Given the description of an element on the screen output the (x, y) to click on. 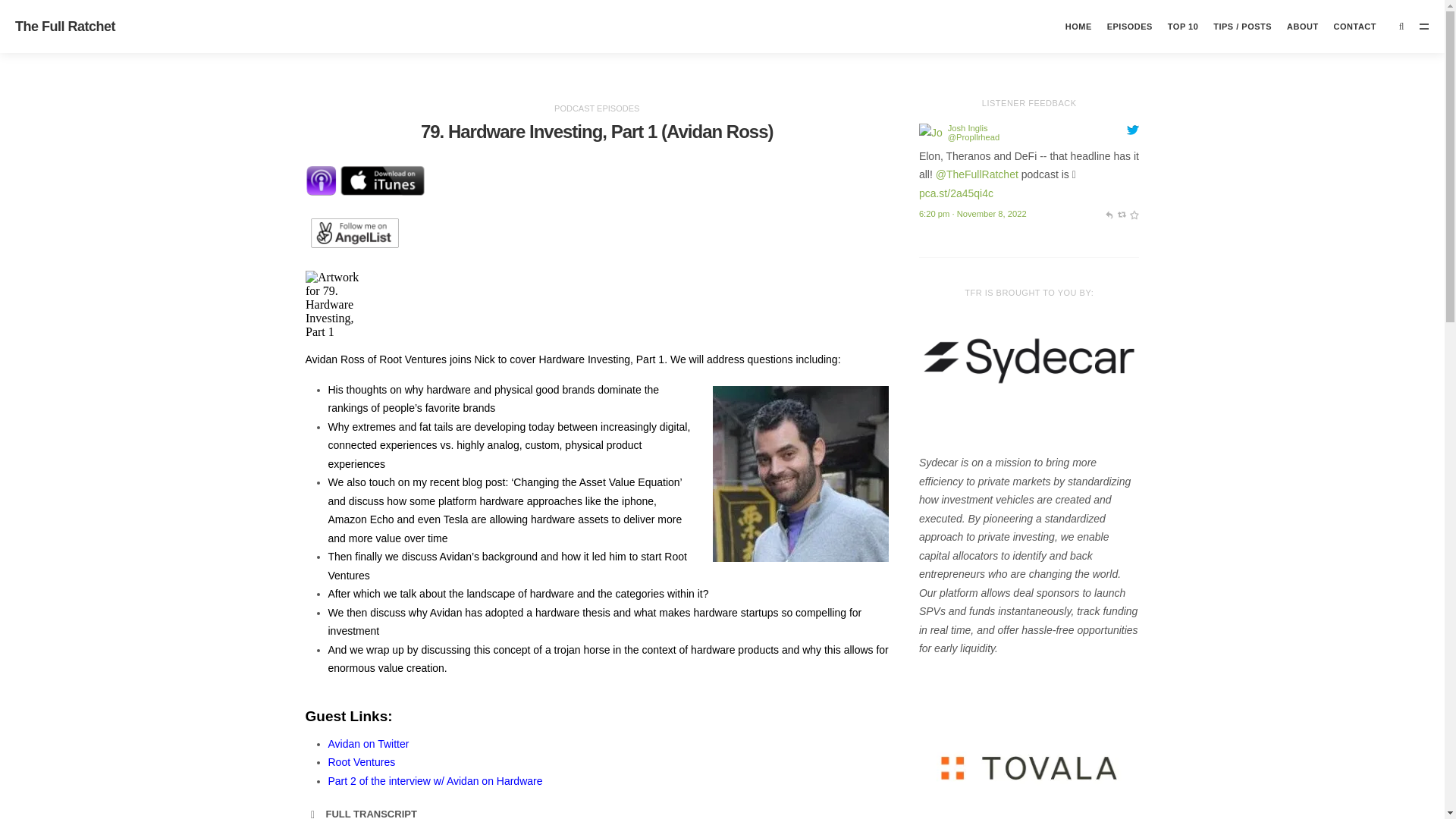
Nick Moran (976, 174)
Josh Inglis (973, 136)
Josh Inglis (967, 127)
Josh Inglis (930, 135)
EPISODES (1129, 26)
retweet (1120, 213)
reply (1108, 213)
The Full Ratchet (64, 26)
Josh Inglis (967, 127)
Avidan on Twitter (368, 743)
